Given the description of an element on the screen output the (x, y) to click on. 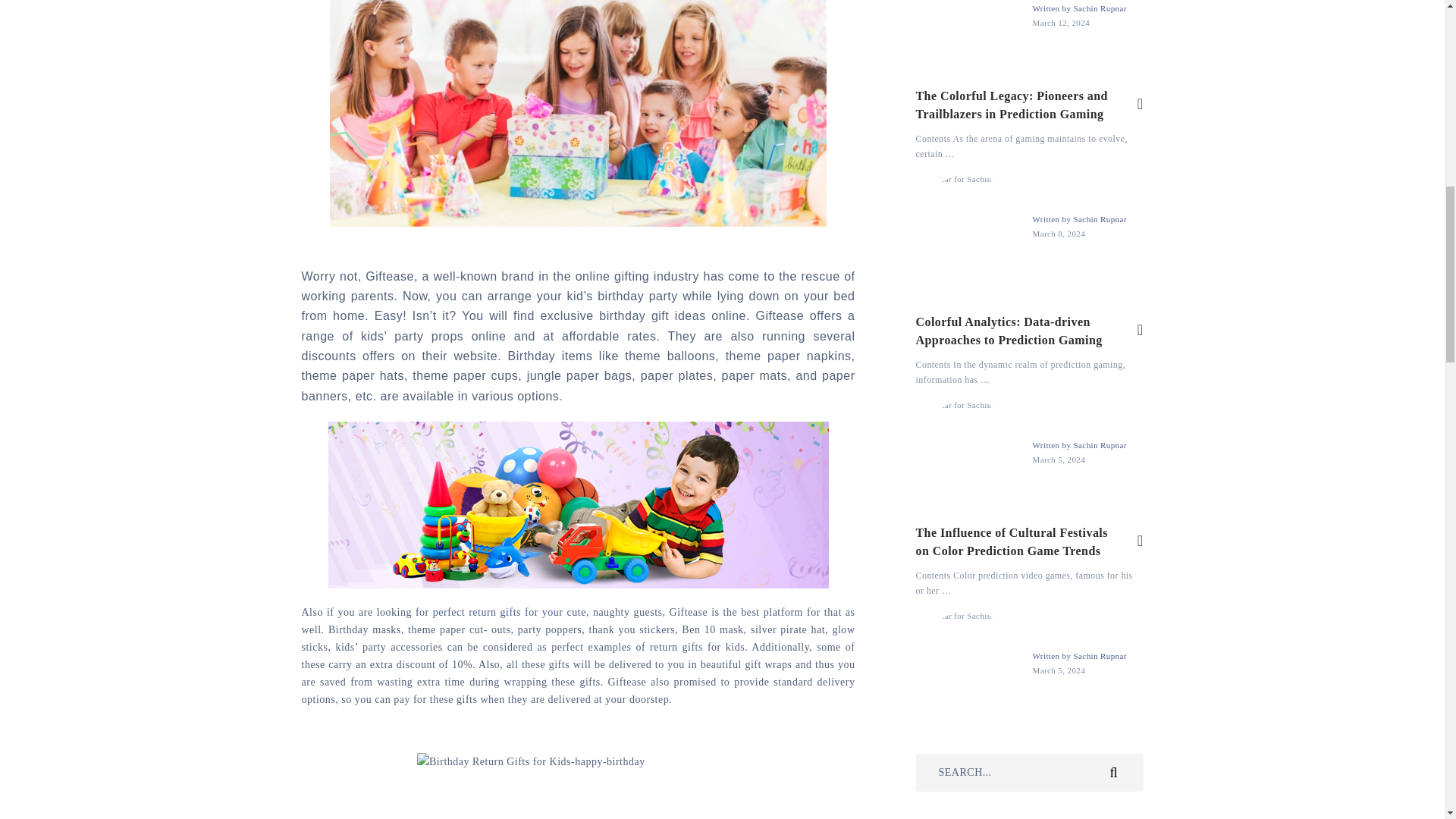
Gravatar for Sachin Rupnar (967, 226)
Gravatar for Sachin Rupnar (967, 33)
perfect return gifts for your cute (509, 612)
Like (1139, 104)
Posts by Sachin Rupnar (1100, 8)
